Given the description of an element on the screen output the (x, y) to click on. 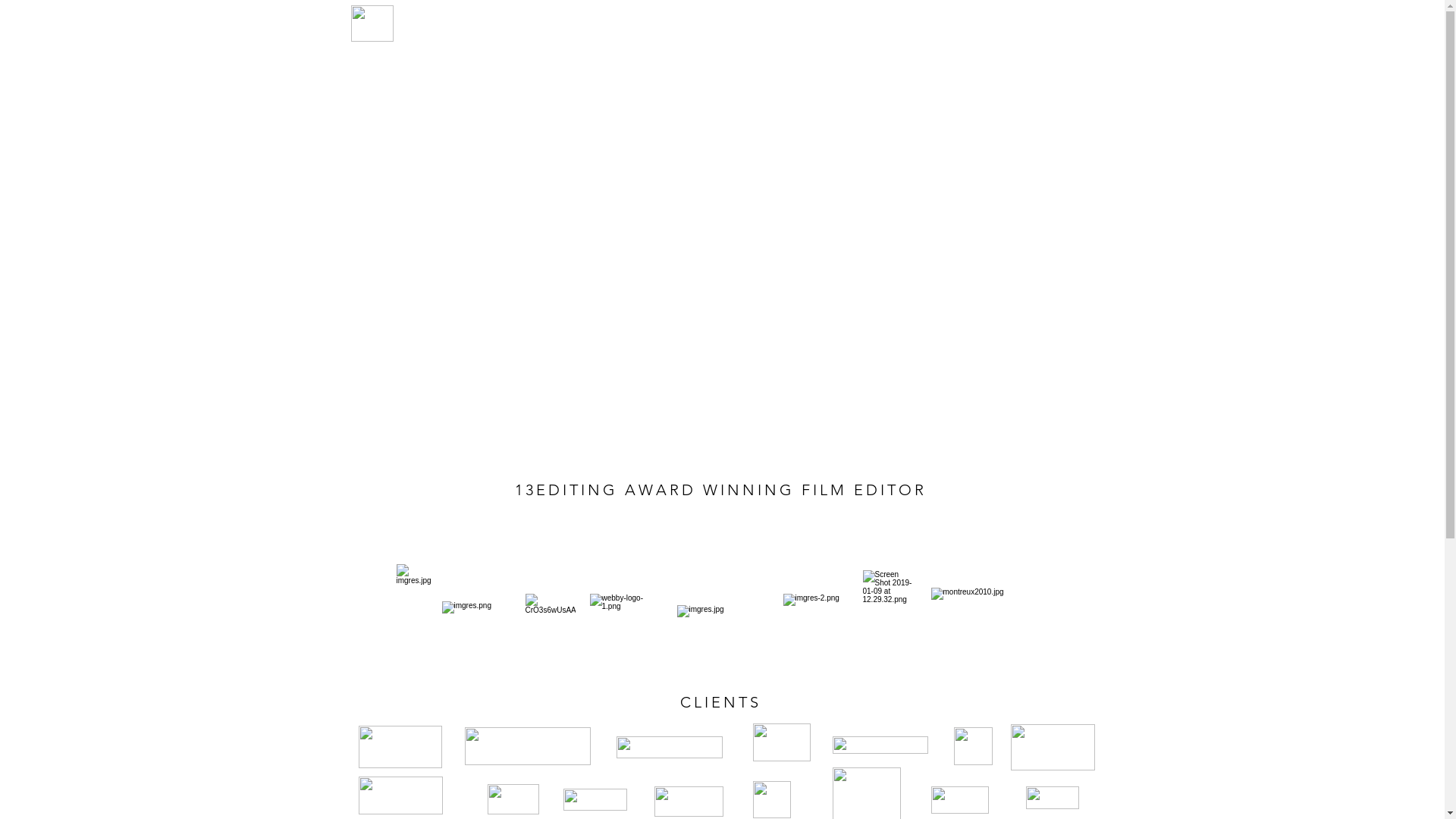
External Vimeo Element type: hover (722, 259)
